Given the description of an element on the screen output the (x, y) to click on. 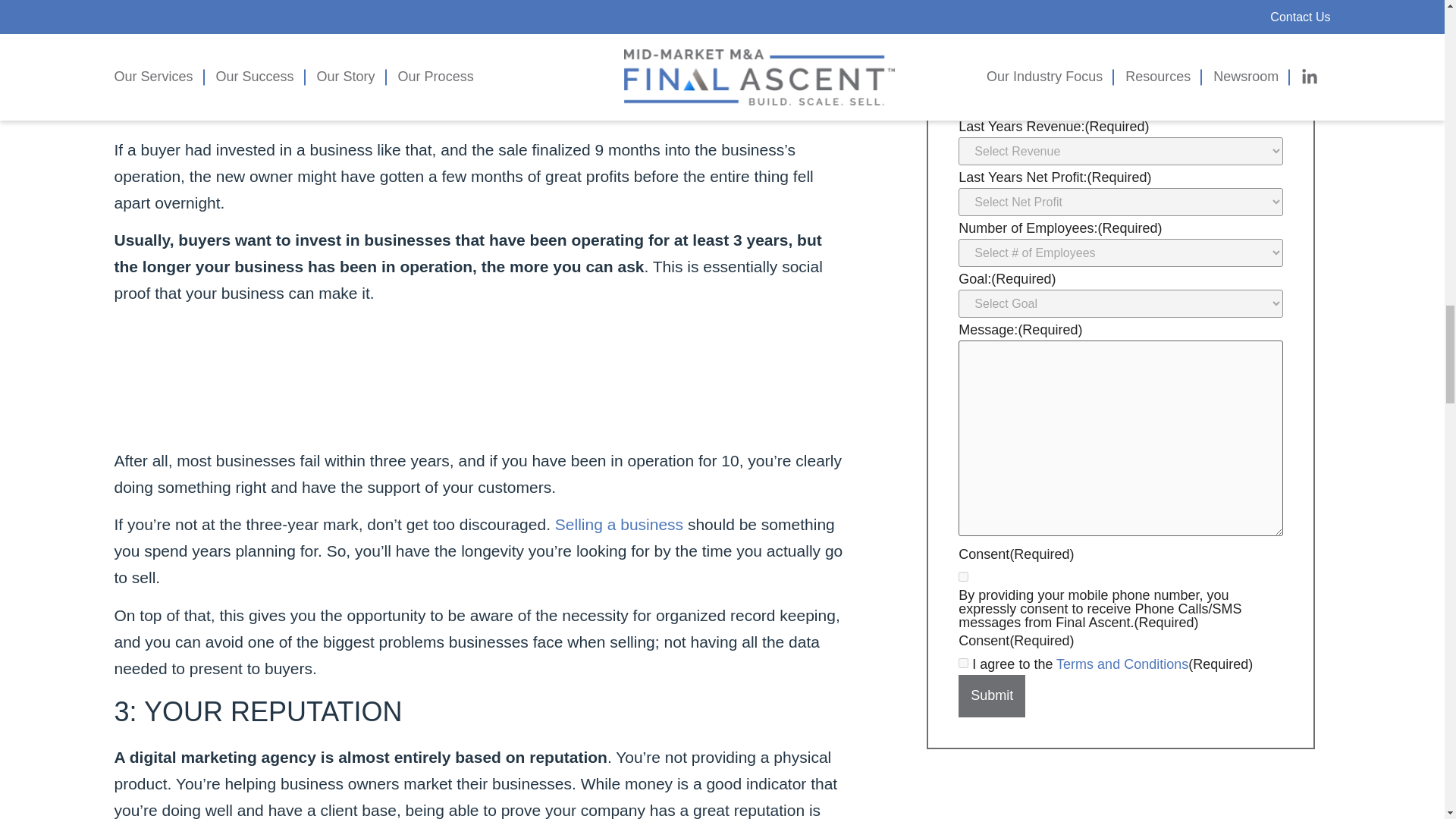
1 (963, 663)
Submit (991, 695)
1 (963, 576)
